Given the description of an element on the screen output the (x, y) to click on. 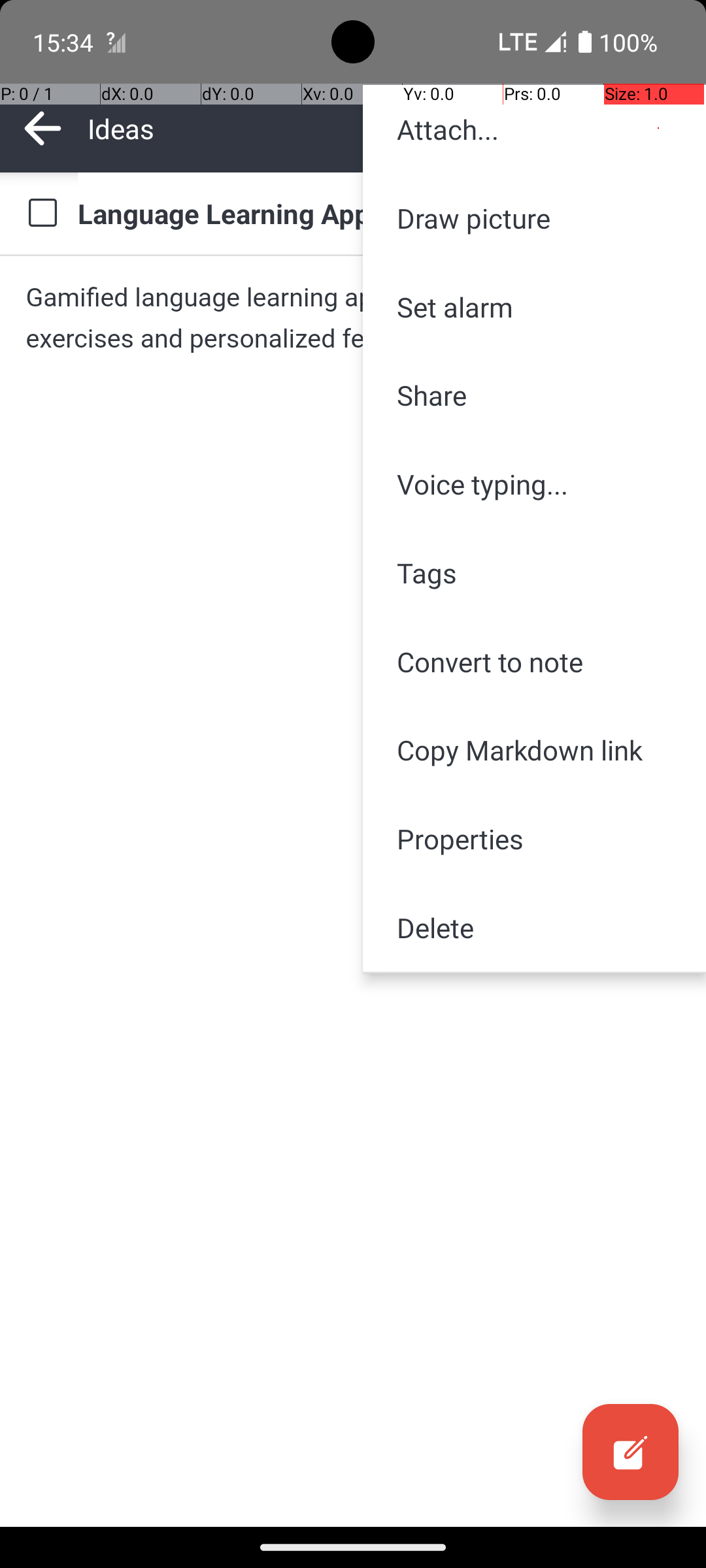
Language Learning App Element type: android.widget.EditText (378, 213)
Attach... Element type: android.widget.TextView (534, 129)
Draw picture Element type: android.widget.TextView (534, 217)
Set alarm Element type: android.widget.TextView (534, 306)
Voice typing... Element type: android.widget.TextView (534, 484)
Tags Element type: android.widget.TextView (534, 572)
Convert to note Element type: android.widget.TextView (534, 661)
Copy Markdown link Element type: android.widget.TextView (534, 749)
Properties Element type: android.widget.TextView (534, 838)
Gamified language learning app with interactive exercises and personalized feedback. Element type: android.widget.TextView (352, 317)
